Given the description of an element on the screen output the (x, y) to click on. 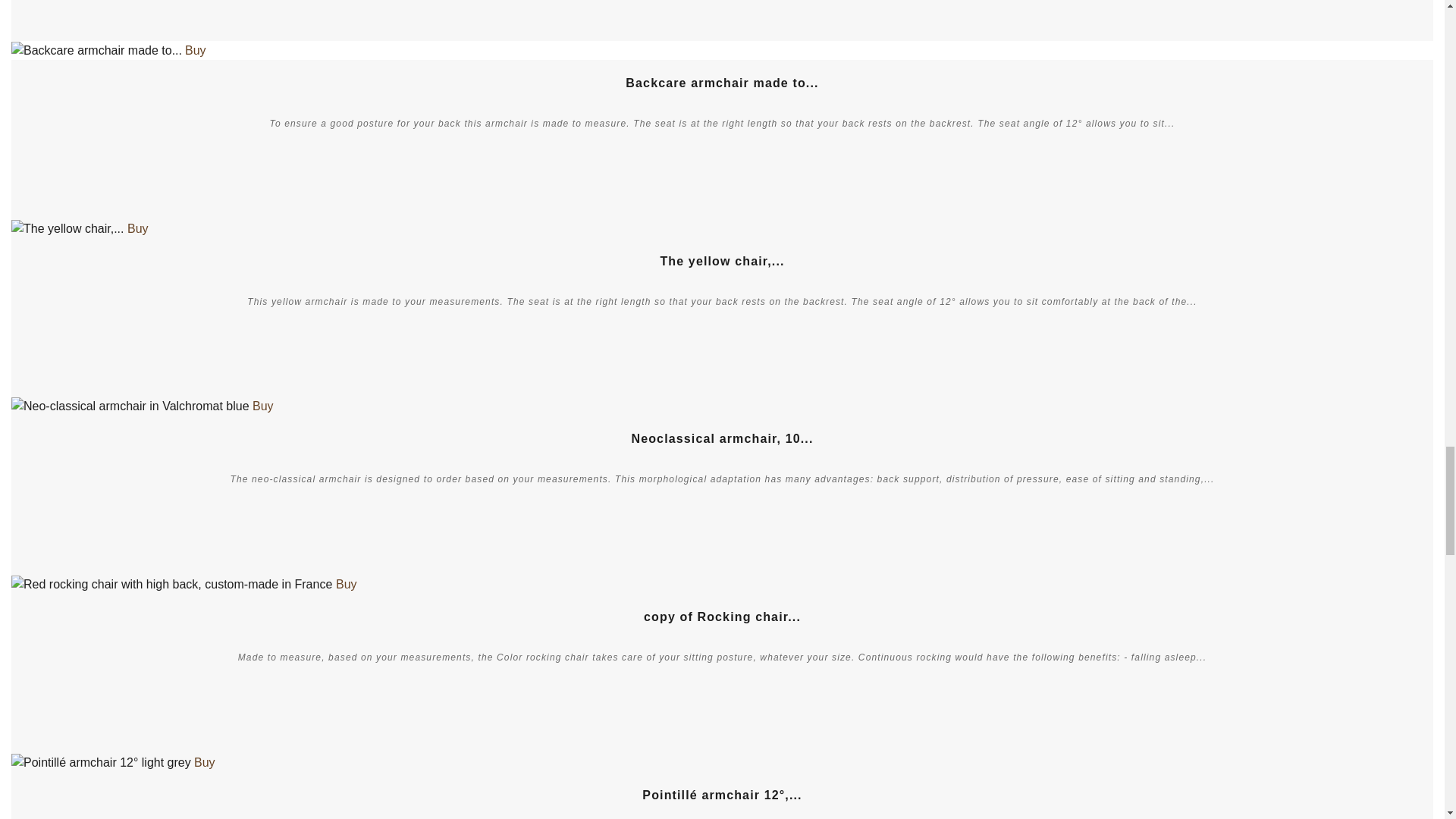
Buy (195, 50)
